Given the description of an element on the screen output the (x, y) to click on. 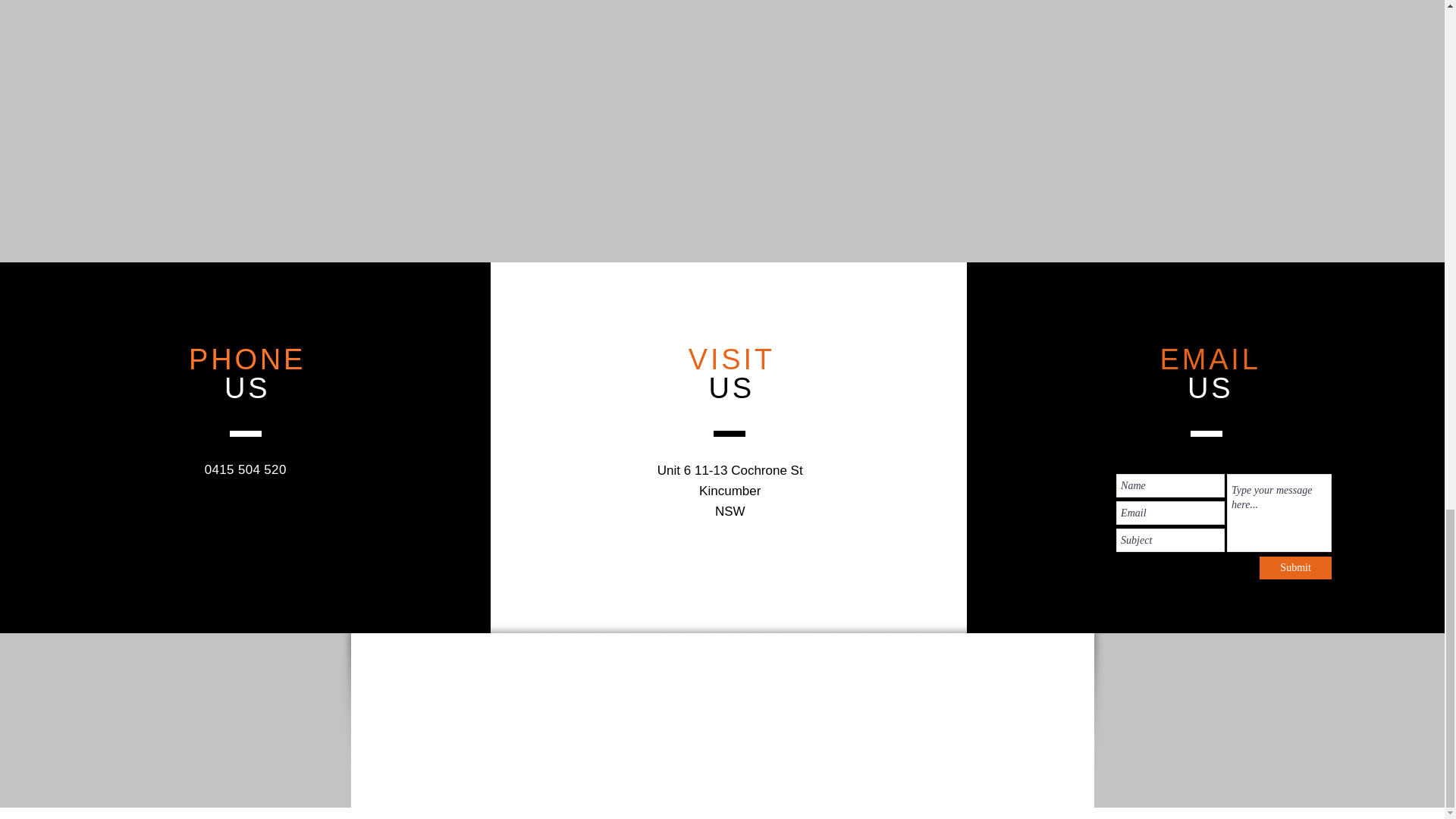
Submit (1295, 567)
